Given the description of an element on the screen output the (x, y) to click on. 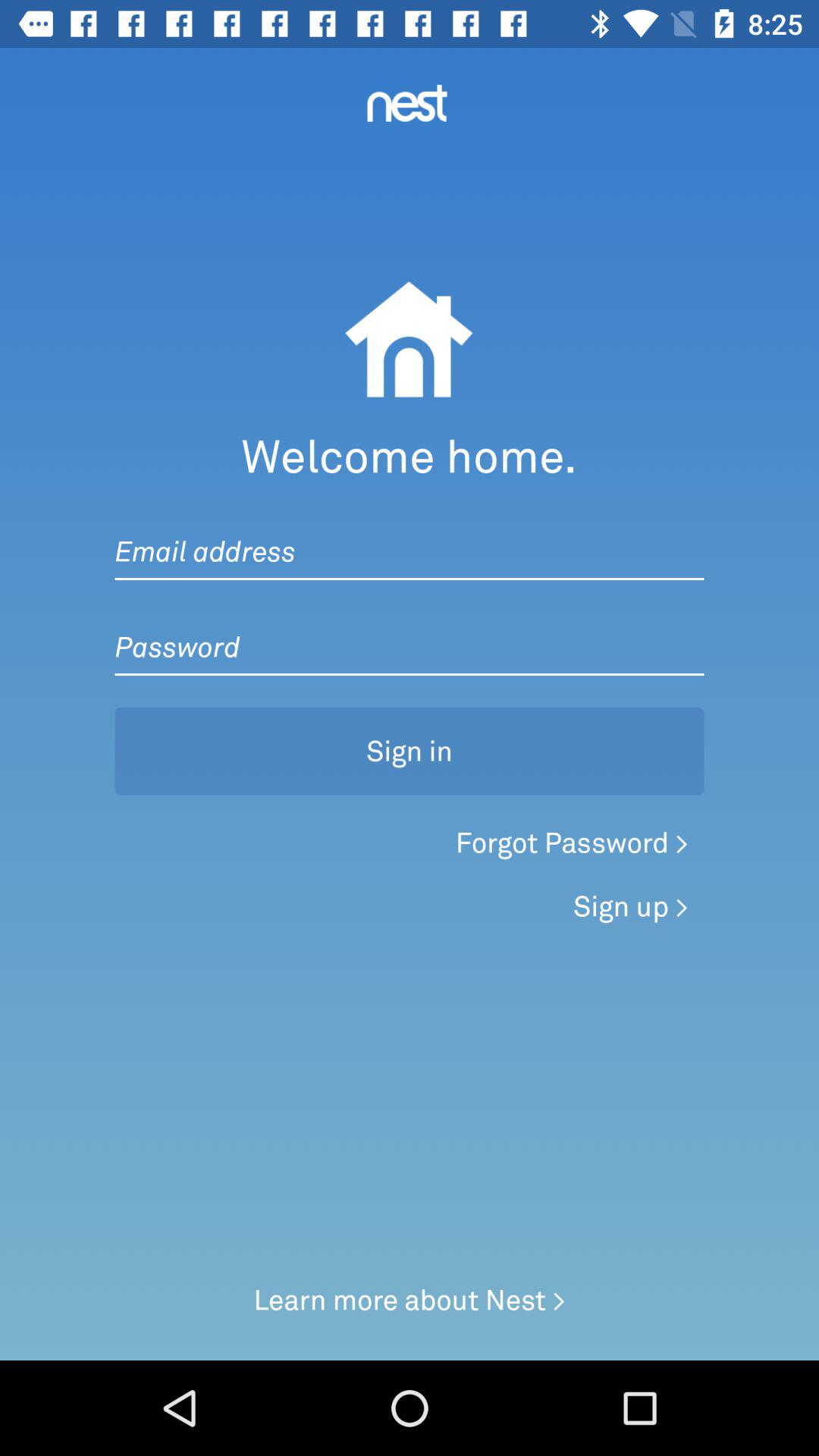
scroll to the learn more about item (409, 1299)
